Given the description of an element on the screen output the (x, y) to click on. 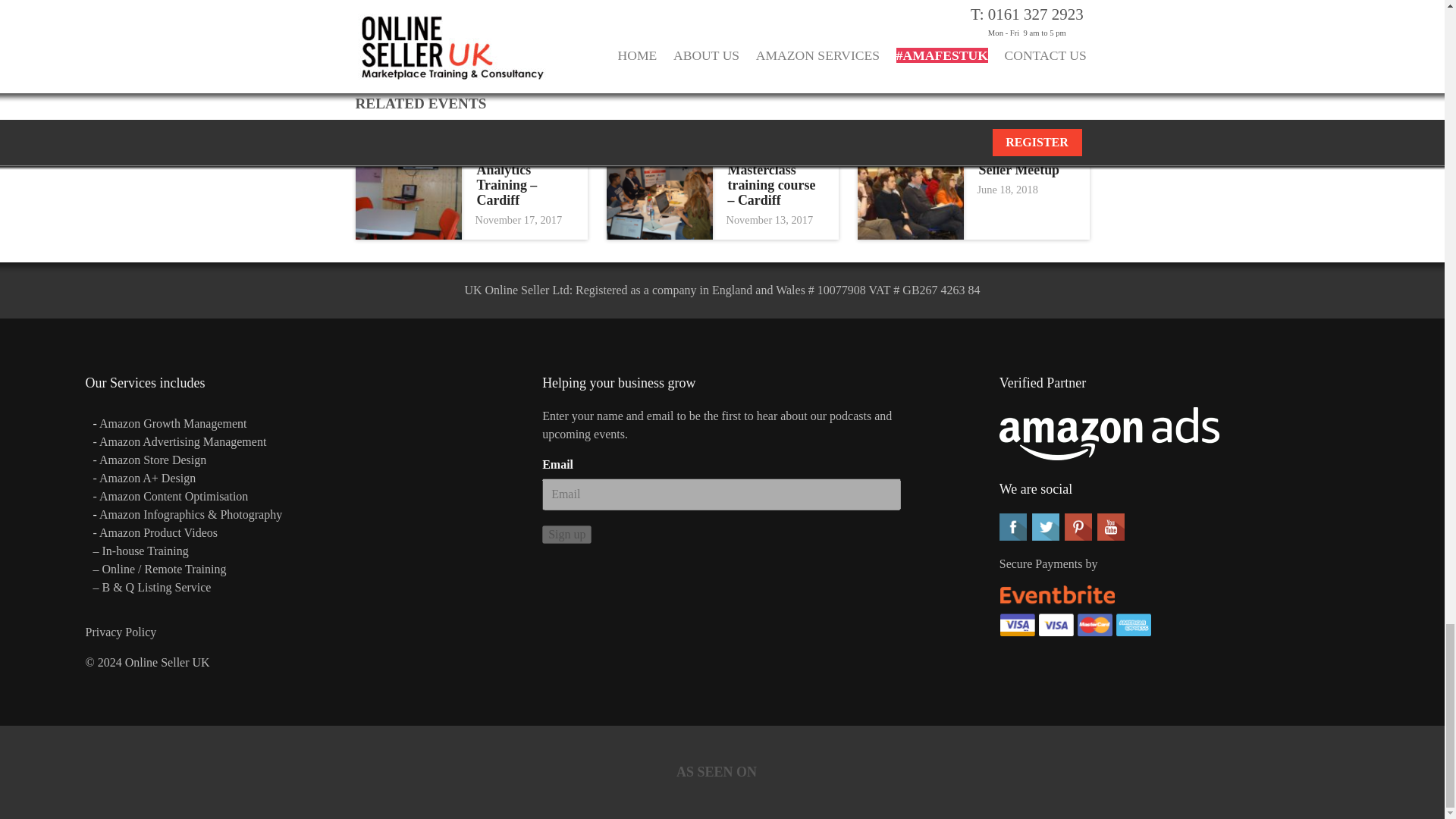
- Amazon Advertising Management (179, 440)
- Amazon Content Optimisation (170, 495)
Amazon Growth Management (173, 422)
Powered by Eventbrite (421, 27)
- Amazon Product Videos  (157, 532)
Cardiff Online Seller Meetup (1026, 163)
- Amazon Store Design (149, 459)
CARDIFF (817, 127)
Cardiff Online Seller Meetup (1026, 163)
CARDIFF (1068, 127)
CARDIFF (566, 127)
